Given the description of an element on the screen output the (x, y) to click on. 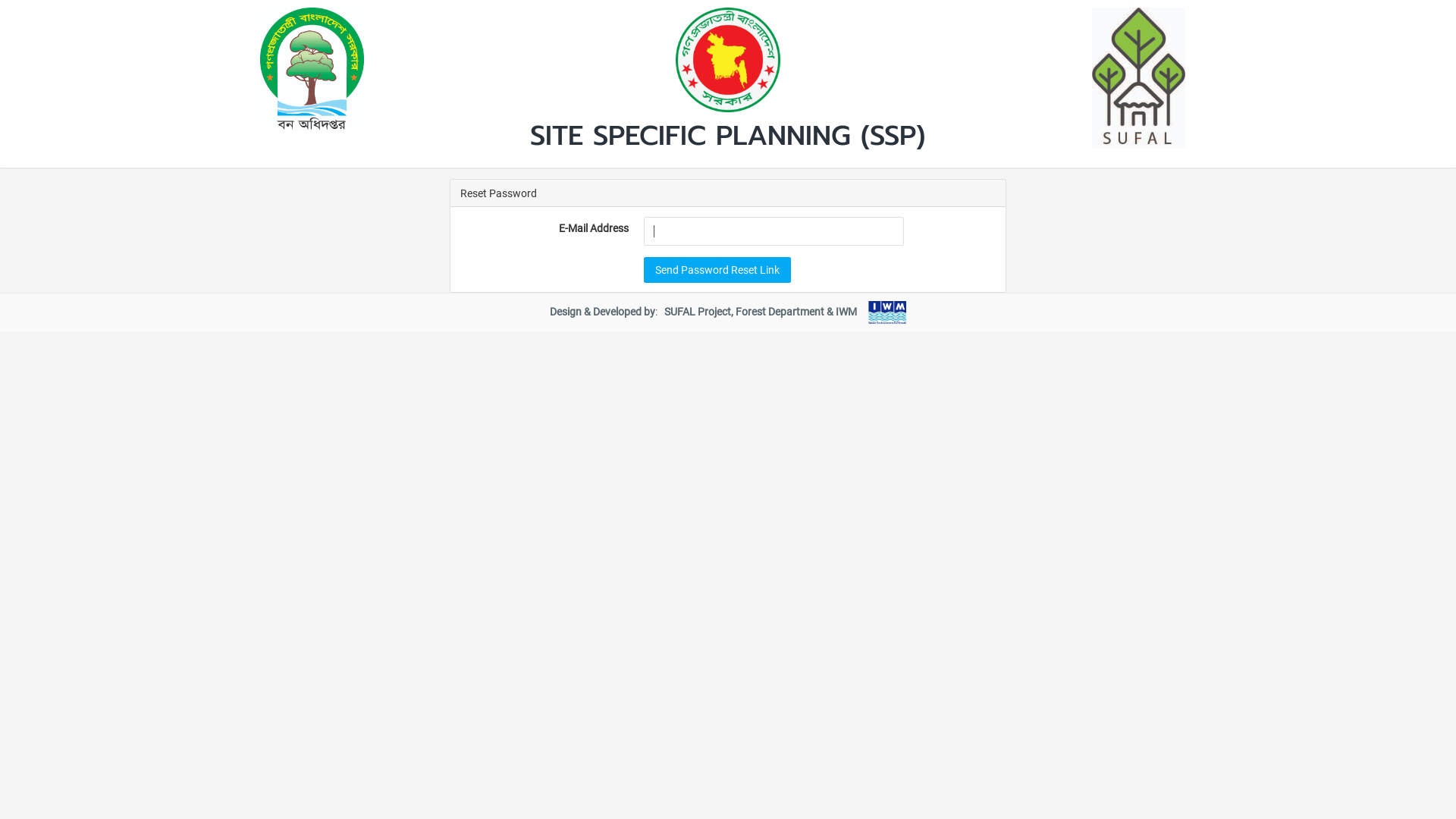
Send Password Reset Link Element type: text (716, 269)
